Given the description of an element on the screen output the (x, y) to click on. 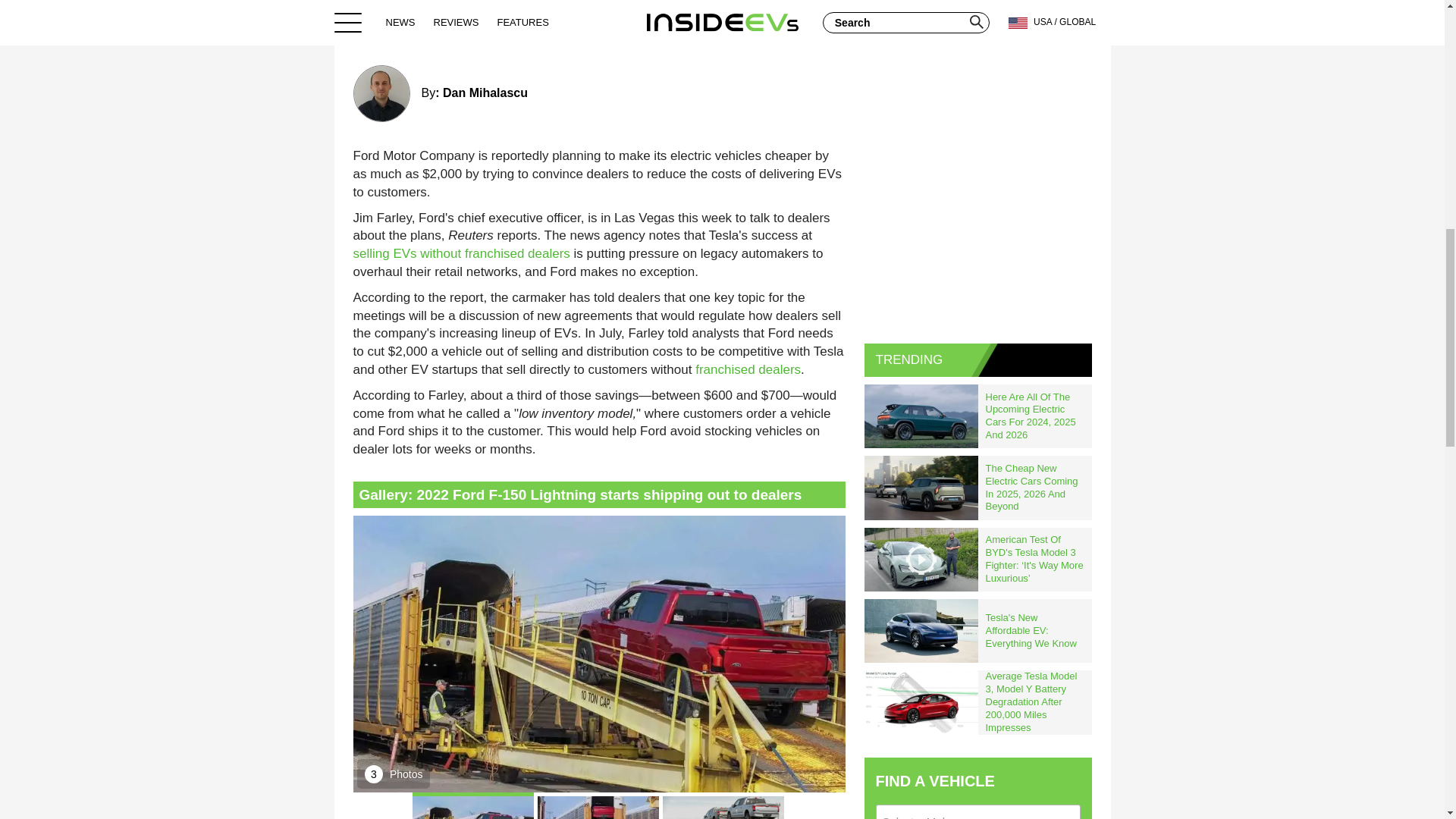
Dan Mihalascu (484, 92)
franchised dealers (747, 369)
selling EVs without franchised dealers (461, 253)
0 (826, 30)
